Given the description of an element on the screen output the (x, y) to click on. 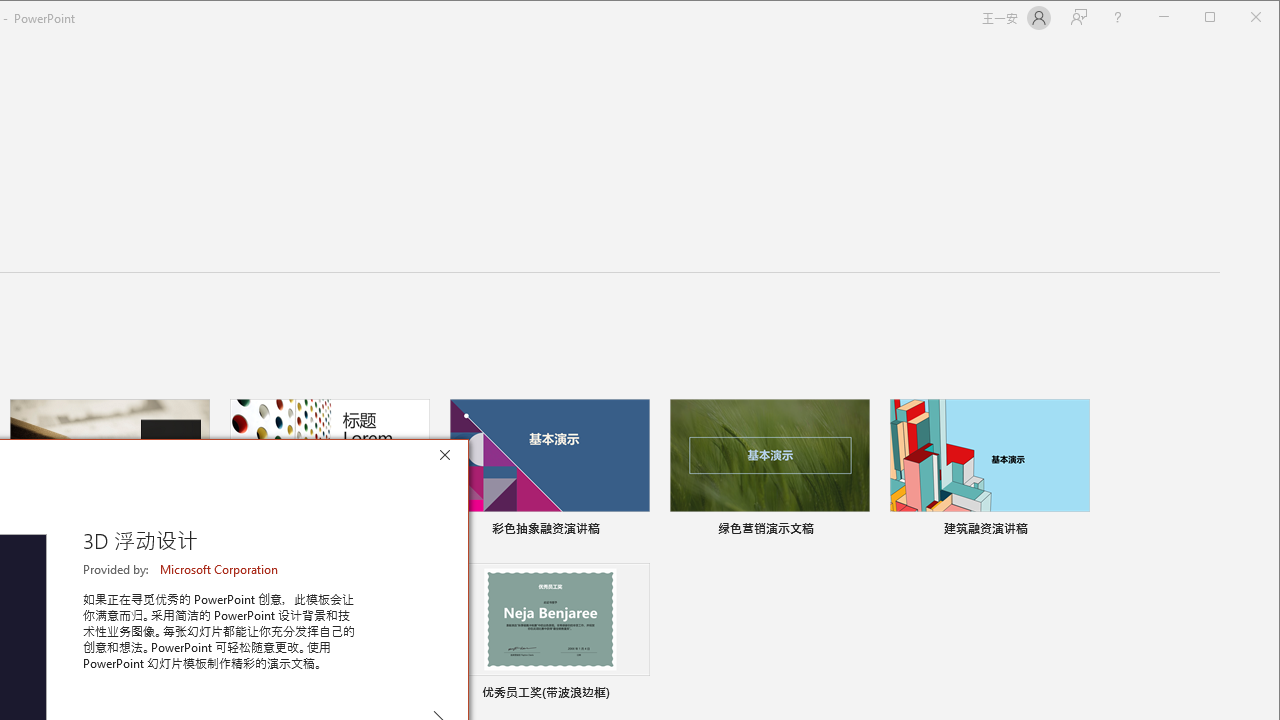
Microsoft Corporation (220, 569)
Maximize (1238, 18)
Pin to list (637, 695)
